Given the description of an element on the screen output the (x, y) to click on. 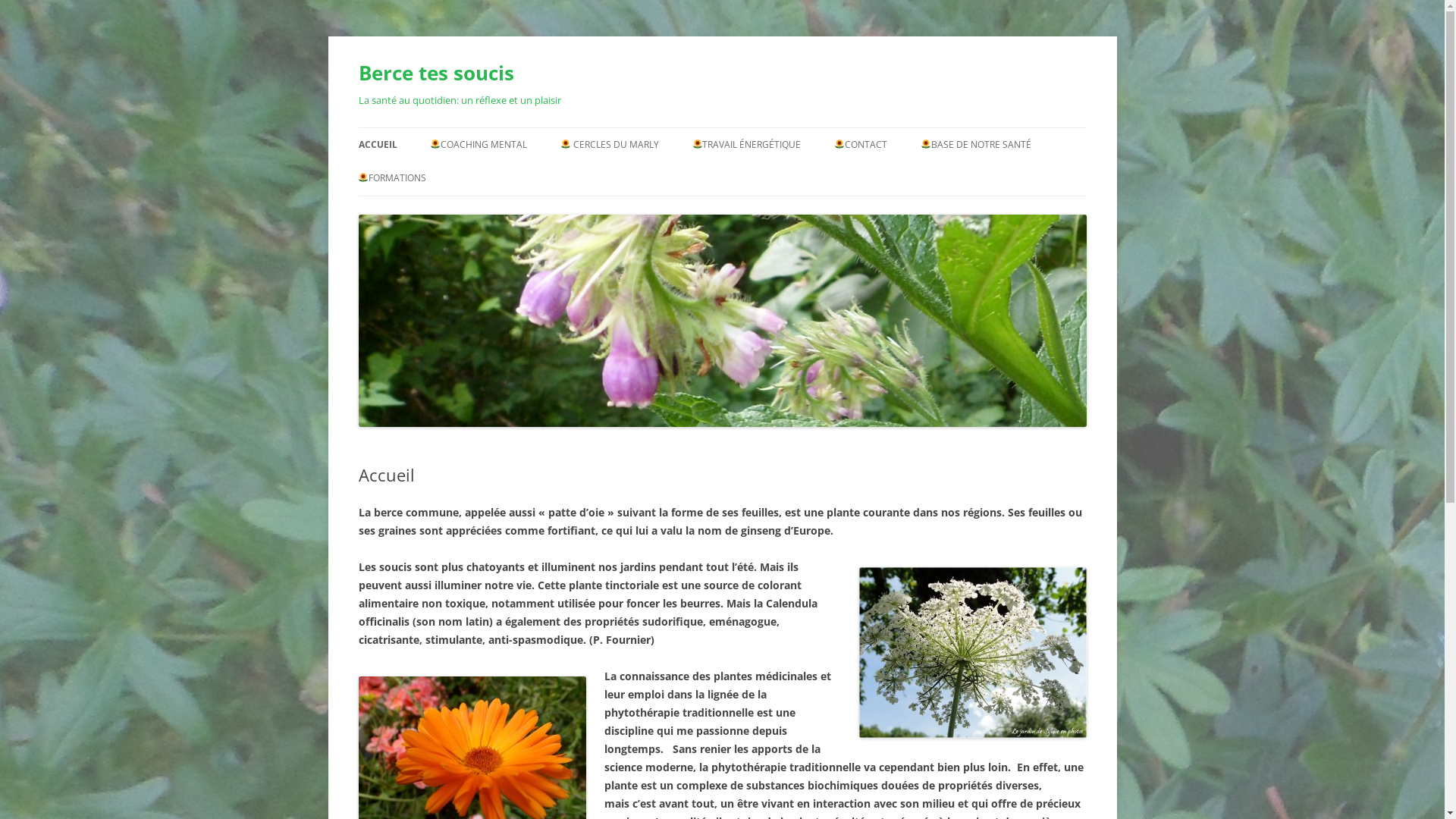
INTRODUCTION Element type: text (768, 176)
ECONOMIE LOCALE ET ADHOCRATIE Element type: text (636, 185)
CERCLES DU MARLY Element type: text (609, 144)
Berce tes soucis Element type: text (435, 72)
COACHING MENTAL Element type: text (478, 144)
ACCUEIL Element type: text (376, 144)
CONTACT Element type: text (860, 144)
FORMATIONS Element type: text (433, 210)
FORMATIONS Element type: text (391, 177)
Aller au contenu Element type: text (721, 127)
